Given the description of an element on the screen output the (x, y) to click on. 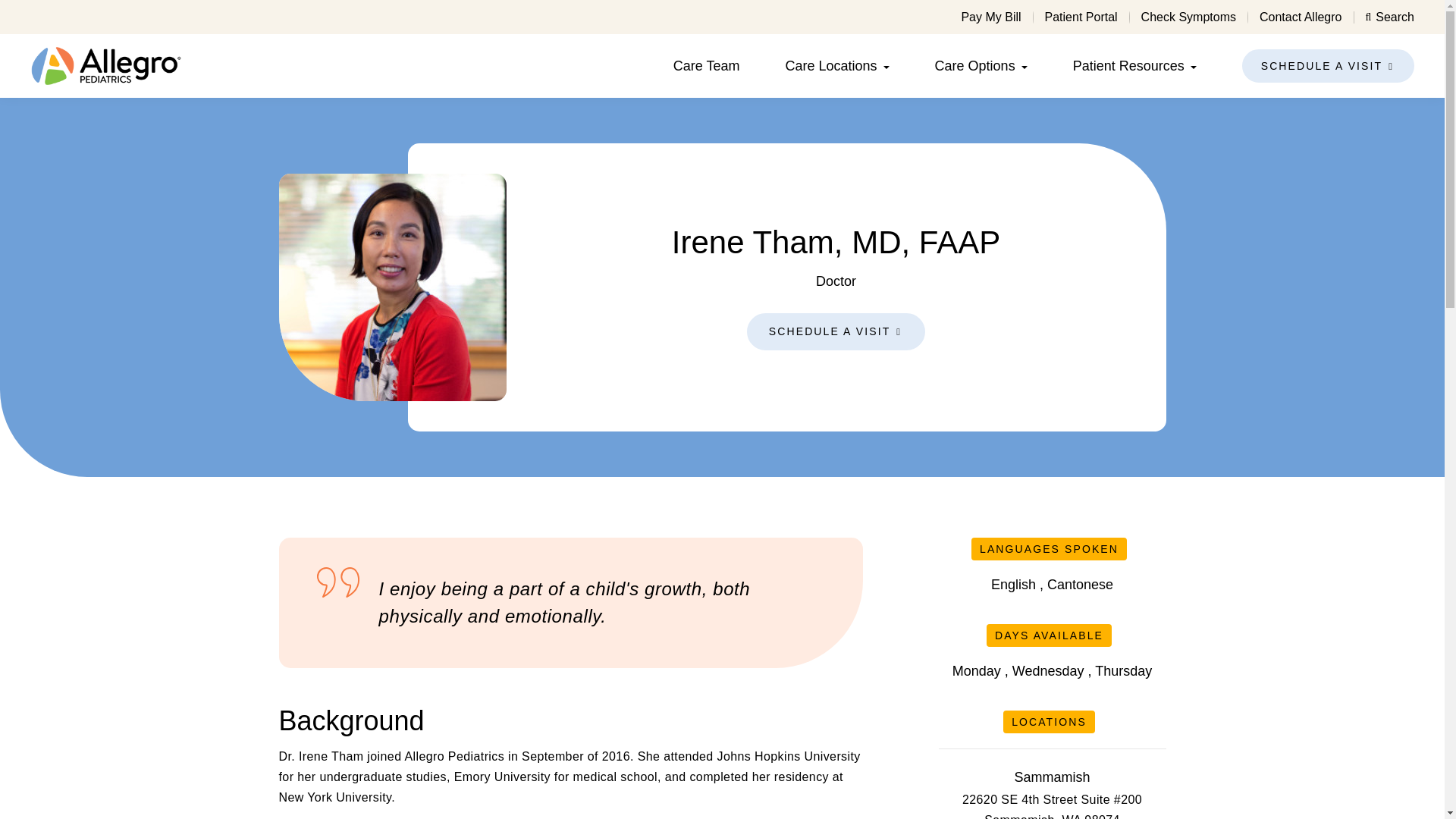
Pay My Bill (990, 16)
Care Options (974, 65)
Care Team (705, 65)
Care Locations (831, 65)
Search (1389, 16)
Contact Allegro (1300, 16)
Patient Portal (1081, 16)
Check Symptoms (1188, 16)
Patient Resources (1129, 65)
